Given the description of an element on the screen output the (x, y) to click on. 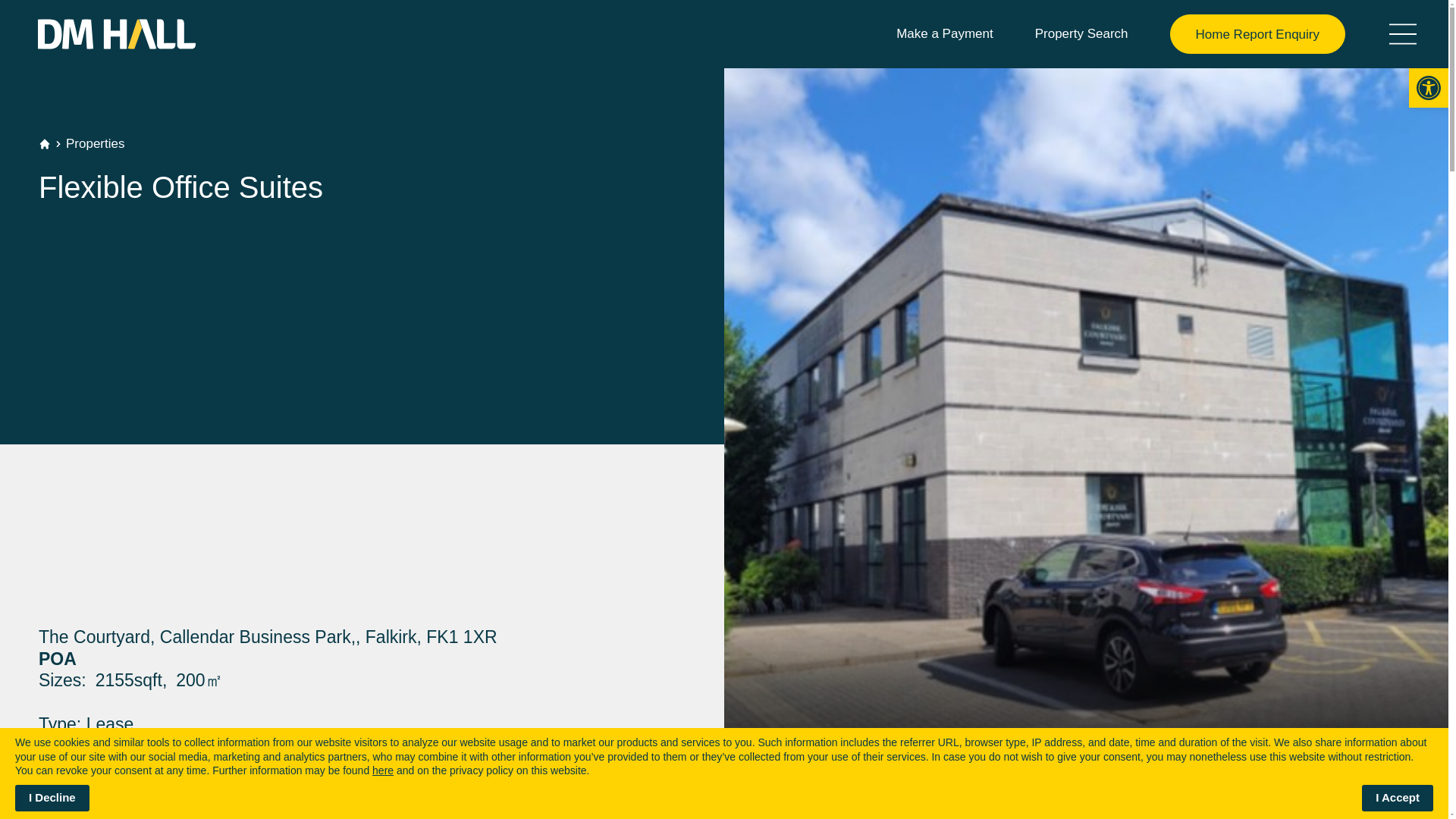
I Decline (51, 797)
About (71, 411)
here (382, 770)
Go to Properties. (94, 143)
Commercial (105, 198)
Building Consultancy (155, 326)
Home Report Enquiry (1257, 34)
Property Management (162, 368)
Open toolbar (1428, 87)
Property Search (1081, 34)
Accessibility Tools (1428, 87)
Rural Services (120, 283)
Go to DM Hall Chartered Surveyors. (44, 143)
I Accept (1396, 797)
Make a Payment (944, 34)
